Given the description of an element on the screen output the (x, y) to click on. 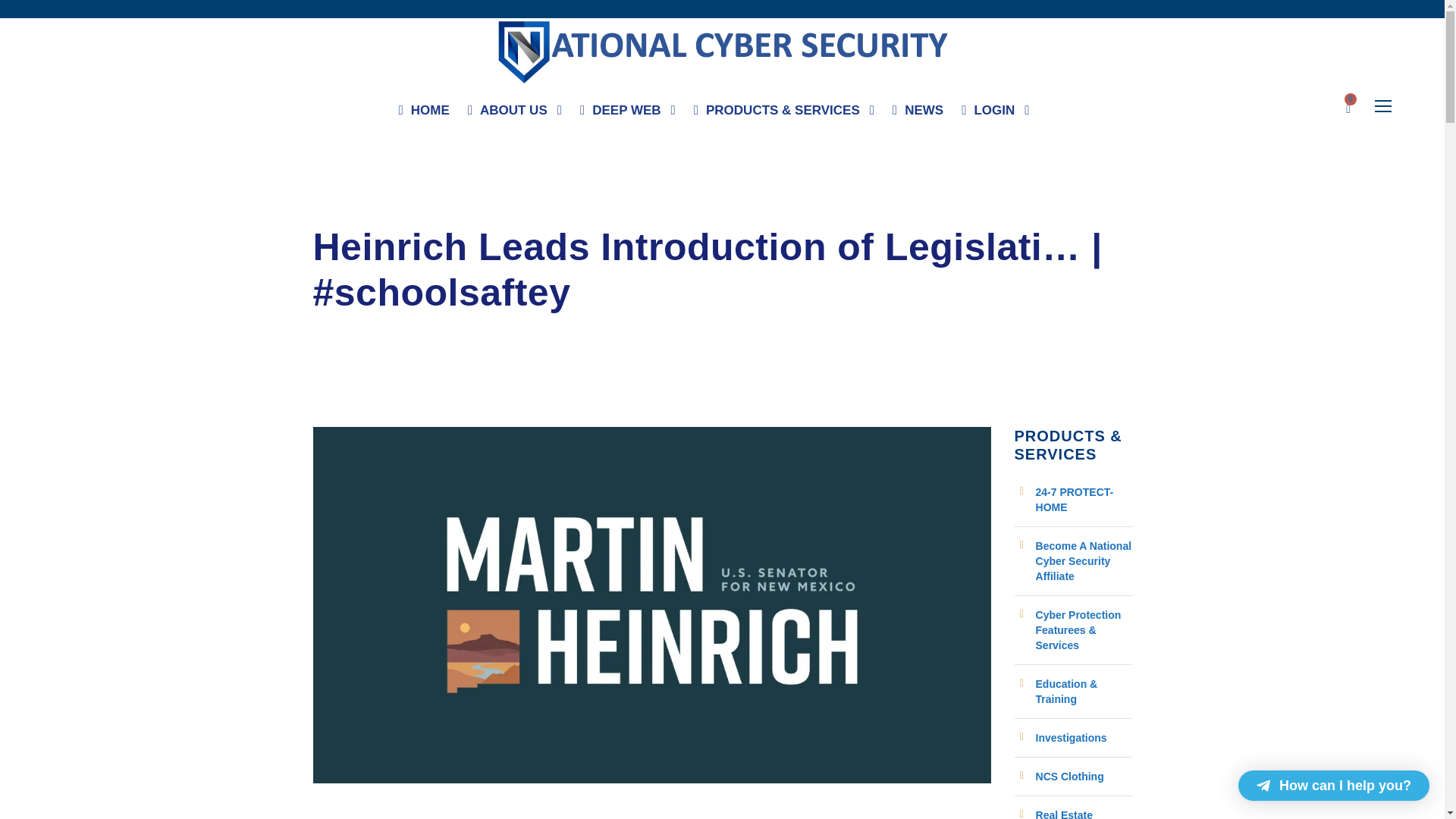
Posts by Natioinal Cyber Security Training Academy Corp (443, 211)
DEEP WEB (627, 114)
HOME (423, 114)
ABOUT US (514, 114)
